Given the description of an element on the screen output the (x, y) to click on. 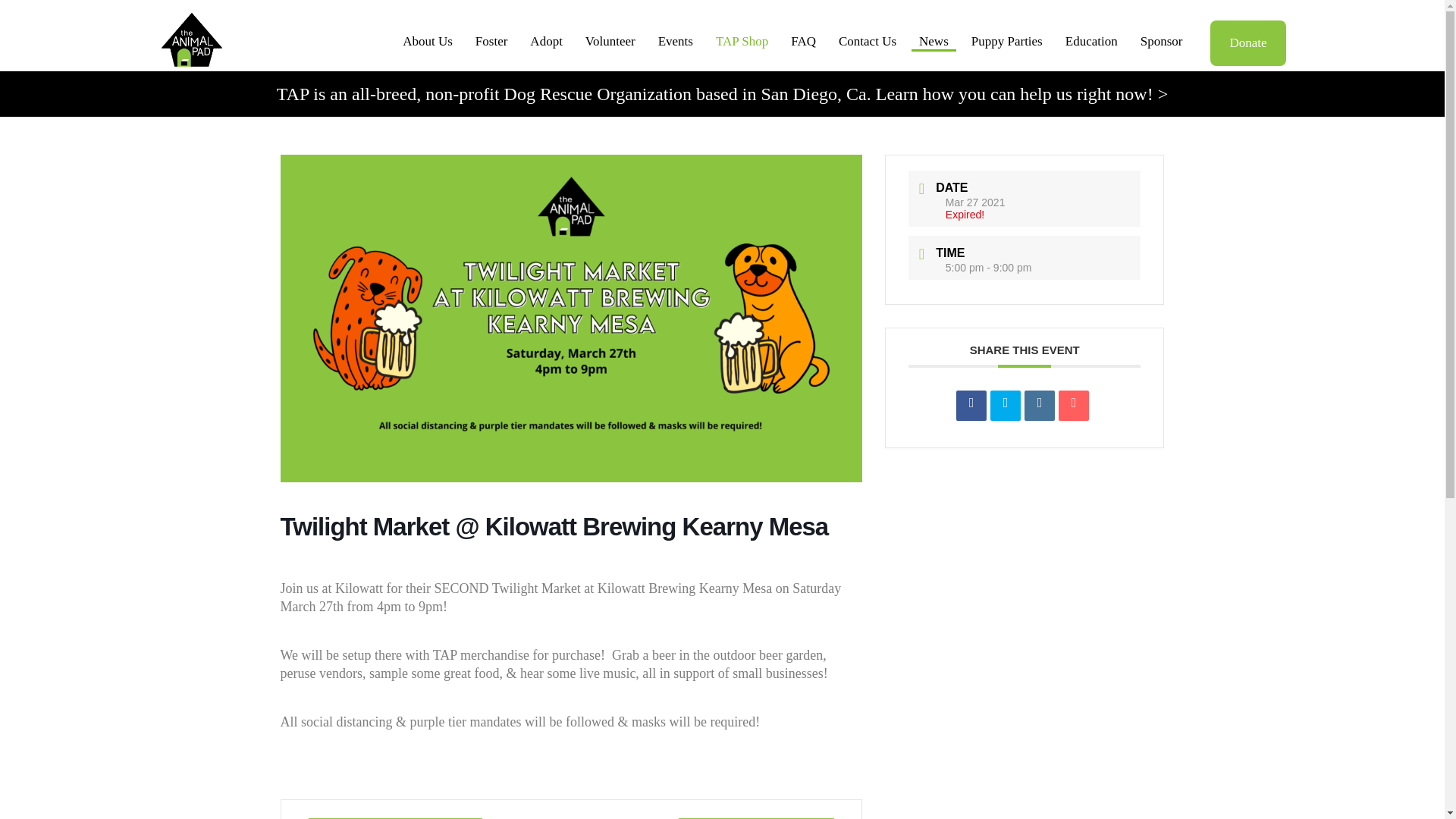
Adopt (546, 42)
Sponsor (1161, 42)
Volunteer (610, 42)
FAQ (803, 42)
Foster (491, 42)
Email (1073, 405)
Education (1091, 42)
Linkedin (1039, 405)
Tweet (1005, 405)
TAP Shop (741, 42)
